Given the description of an element on the screen output the (x, y) to click on. 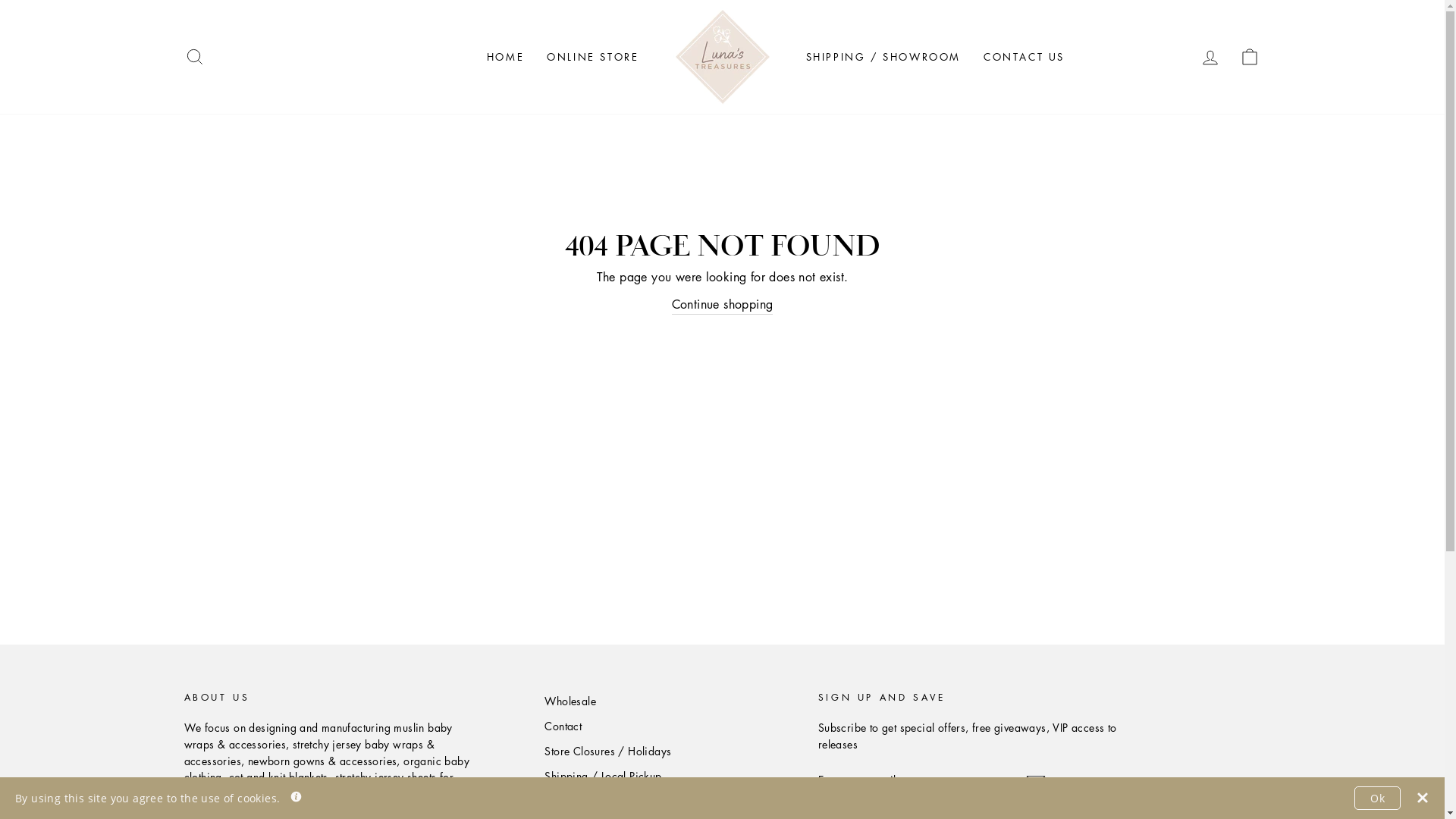
Continue shopping Element type: text (722, 304)
CONTACT US Element type: text (1024, 56)
Shipping / Local Pickup Element type: text (602, 776)
Shop Now Element type: text (570, 801)
Wholesale Element type: text (570, 701)
Skip to content Element type: text (0, 0)
SEARCH Element type: text (193, 56)
LOG IN Element type: text (1210, 56)
HOME Element type: text (505, 56)
Store Closures / Holidays Element type: text (607, 751)
ONLINE STORE Element type: text (592, 56)
Ok Element type: text (1377, 797)
SHIPPING / SHOWROOM Element type: text (883, 56)
Contact Element type: text (562, 726)
CART Element type: text (1249, 56)
